Given the description of an element on the screen output the (x, y) to click on. 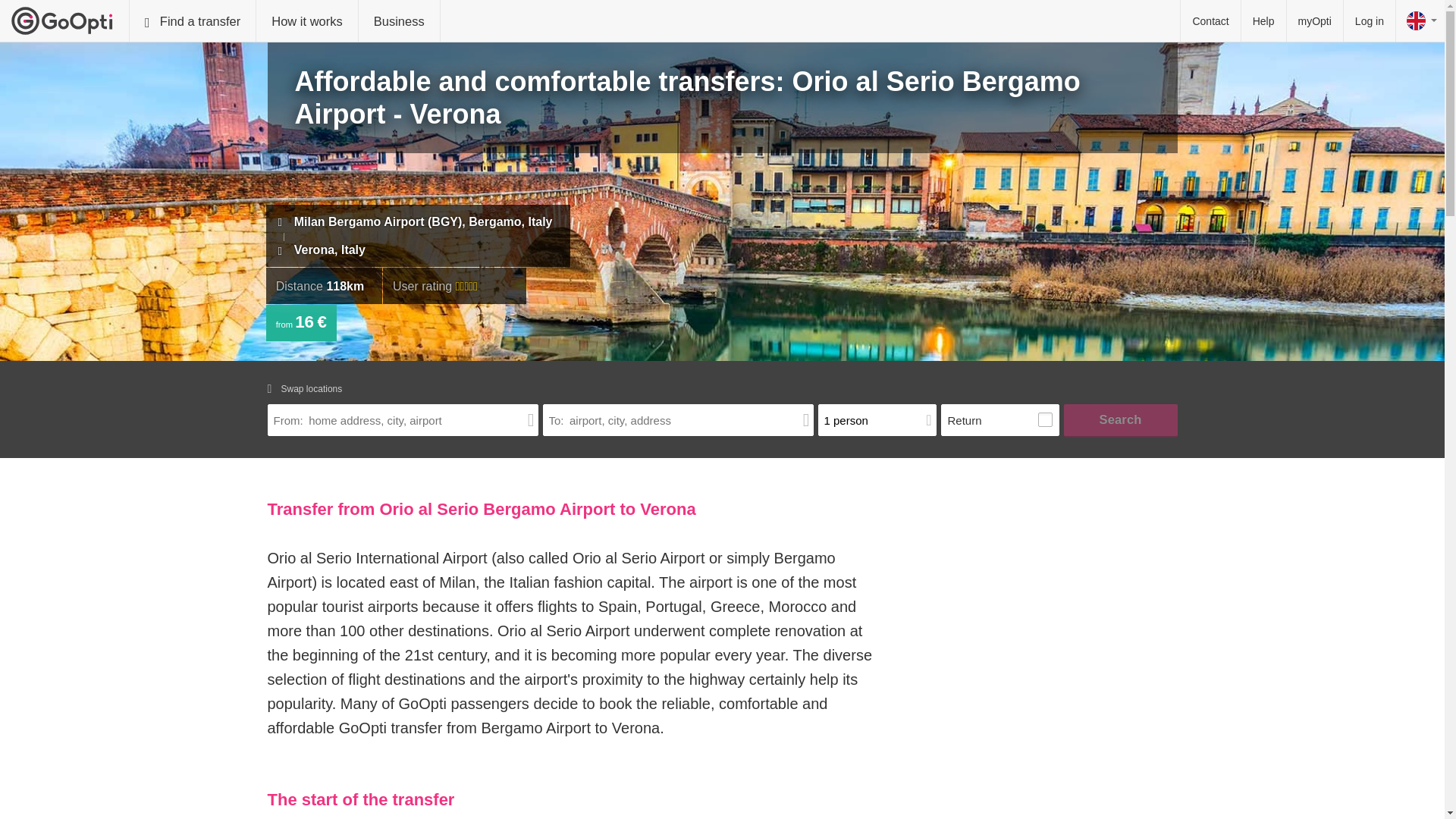
Search (1119, 419)
Search (1119, 419)
myOpti (1314, 20)
Contact (1209, 20)
Help (1263, 20)
Log in (1369, 20)
Find a transfer (192, 20)
How it works (307, 20)
1 person (876, 419)
Business (399, 20)
